Given the description of an element on the screen output the (x, y) to click on. 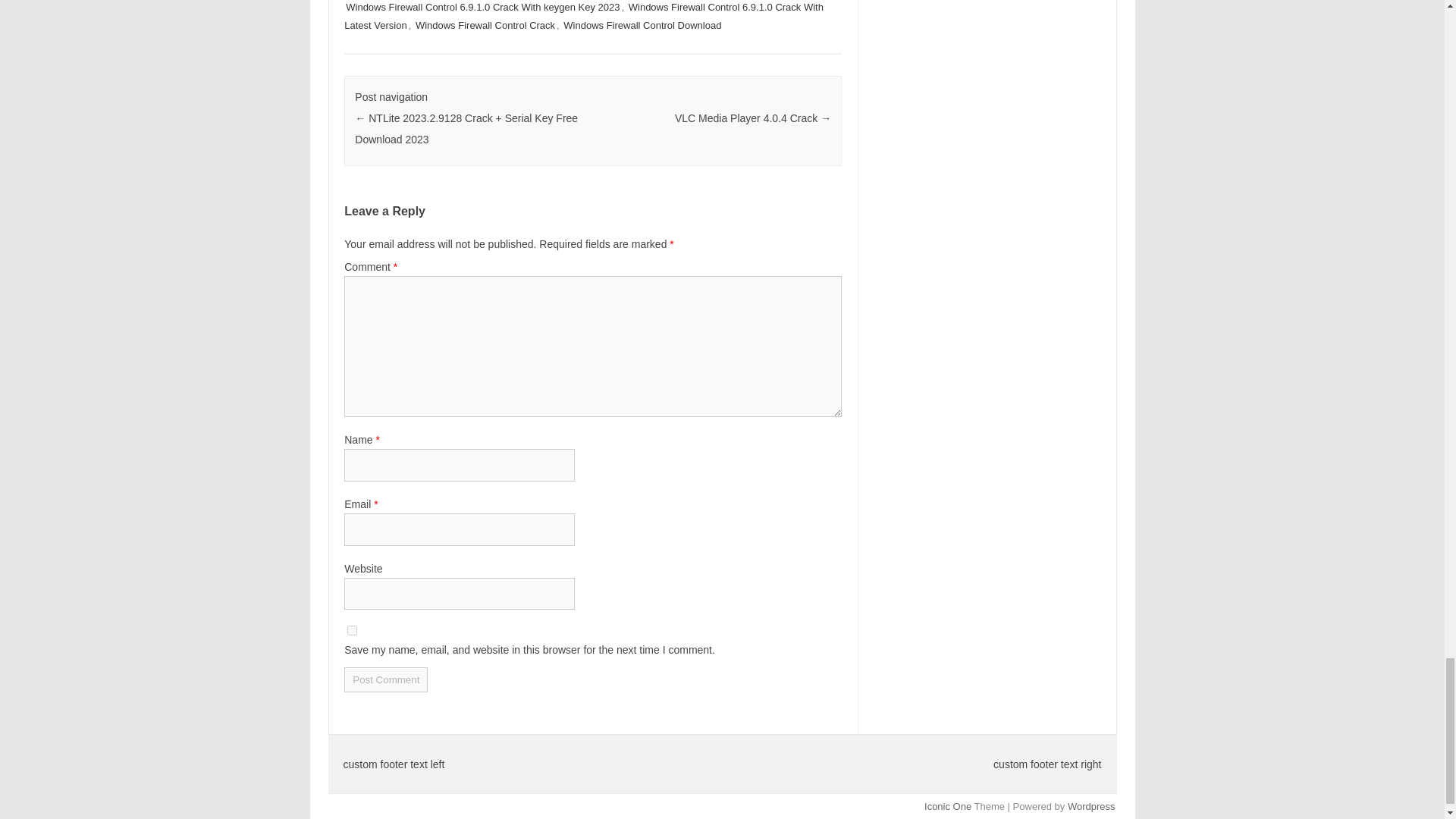
Windows Firewall Control 6.9.1.0 Crack With keygen Key 2023 (482, 7)
yes (351, 630)
Windows Firewall Control 6.9.1.0 Crack With Latest Version (583, 16)
Windows Firewall Control Download (642, 25)
Iconic One (947, 806)
Post Comment (385, 679)
Wordpress (1091, 806)
Post Comment (385, 679)
Windows Firewall Control Crack (484, 25)
